Given the description of an element on the screen output the (x, y) to click on. 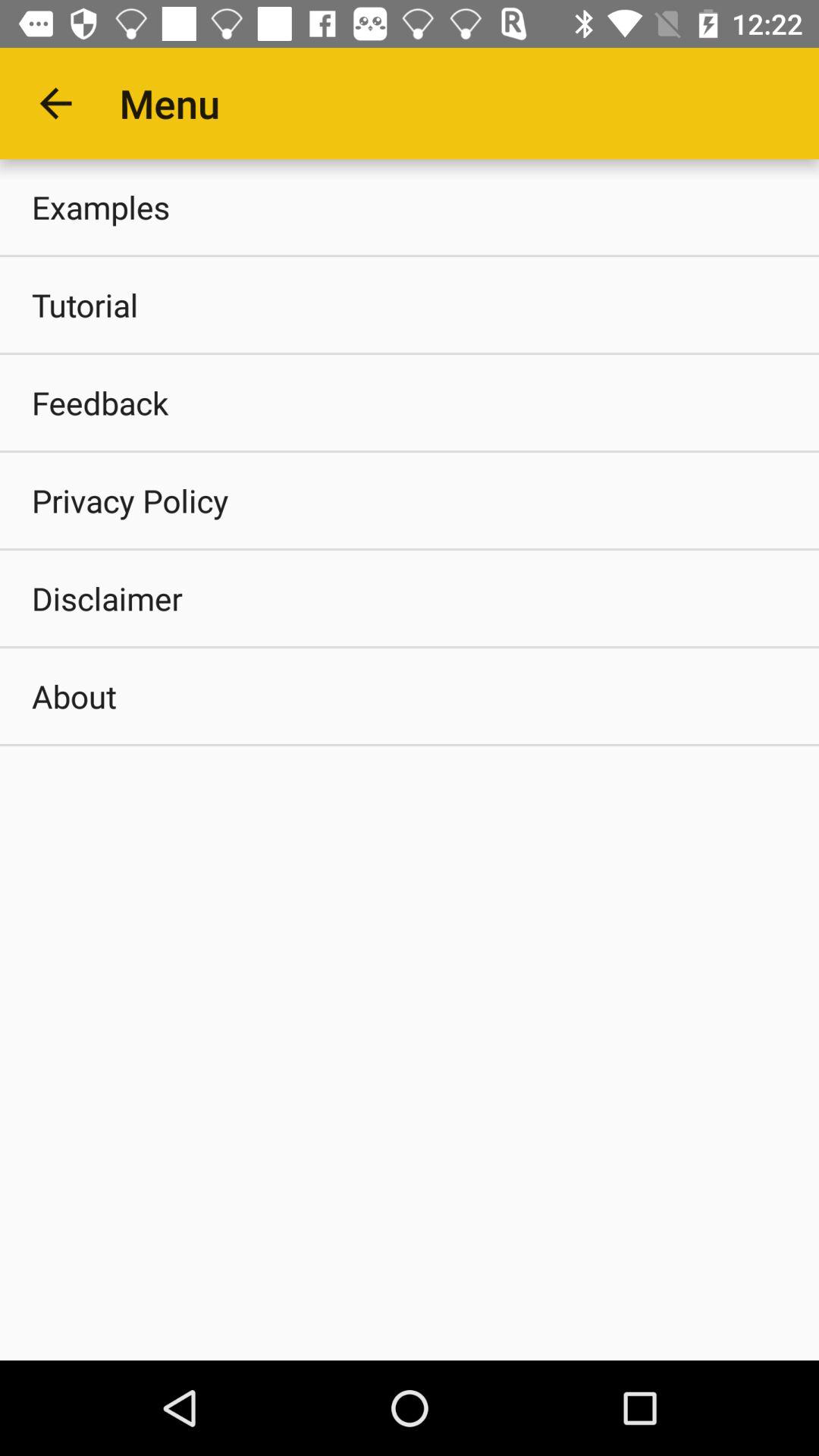
press item below the examples item (409, 304)
